Given the description of an element on the screen output the (x, y) to click on. 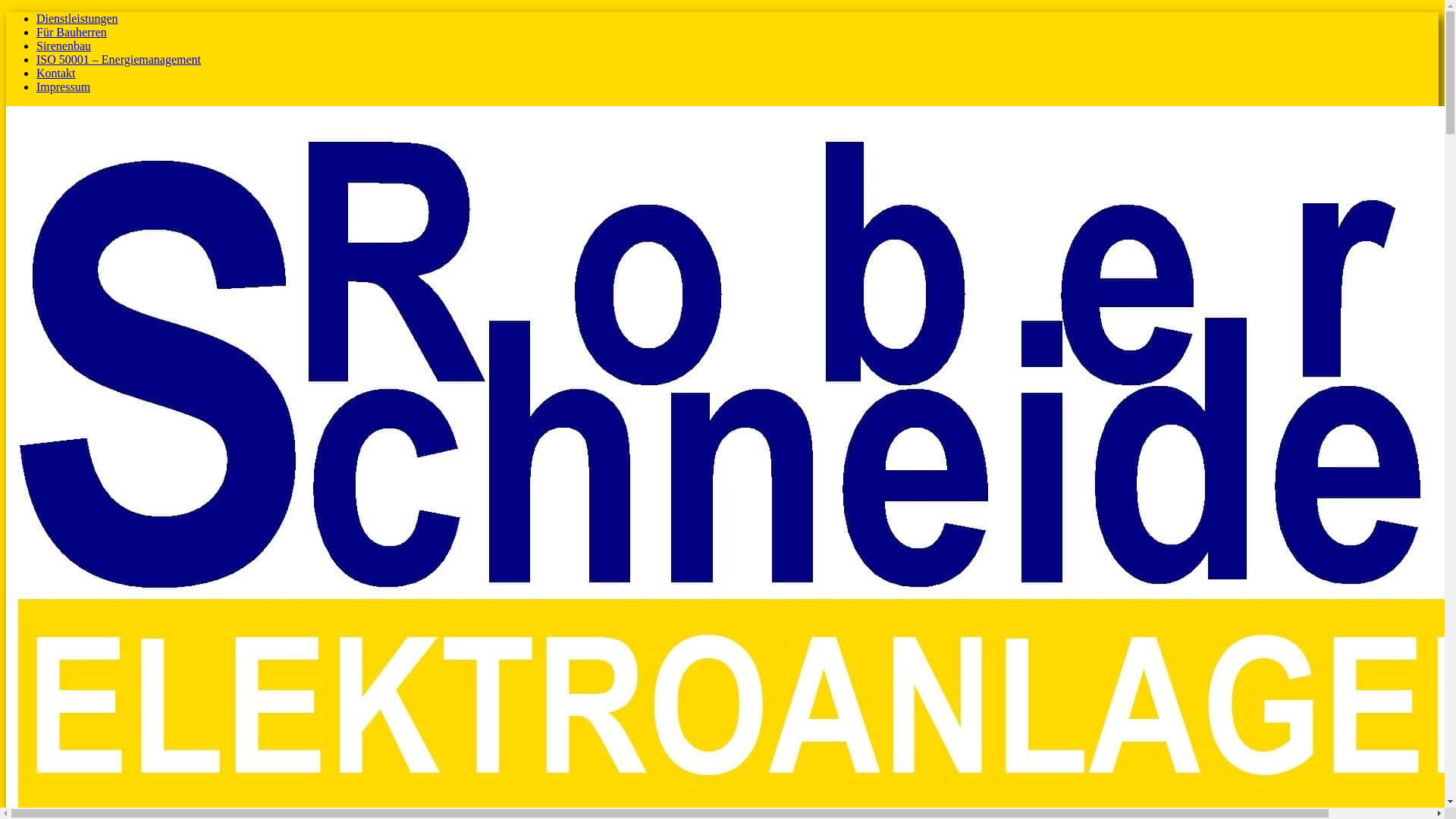
Sirenenbau Element type: text (63, 45)
Dienstleistungen Element type: text (77, 18)
Kontakt Element type: text (55, 72)
Impressum Element type: text (63, 86)
